Given the description of an element on the screen output the (x, y) to click on. 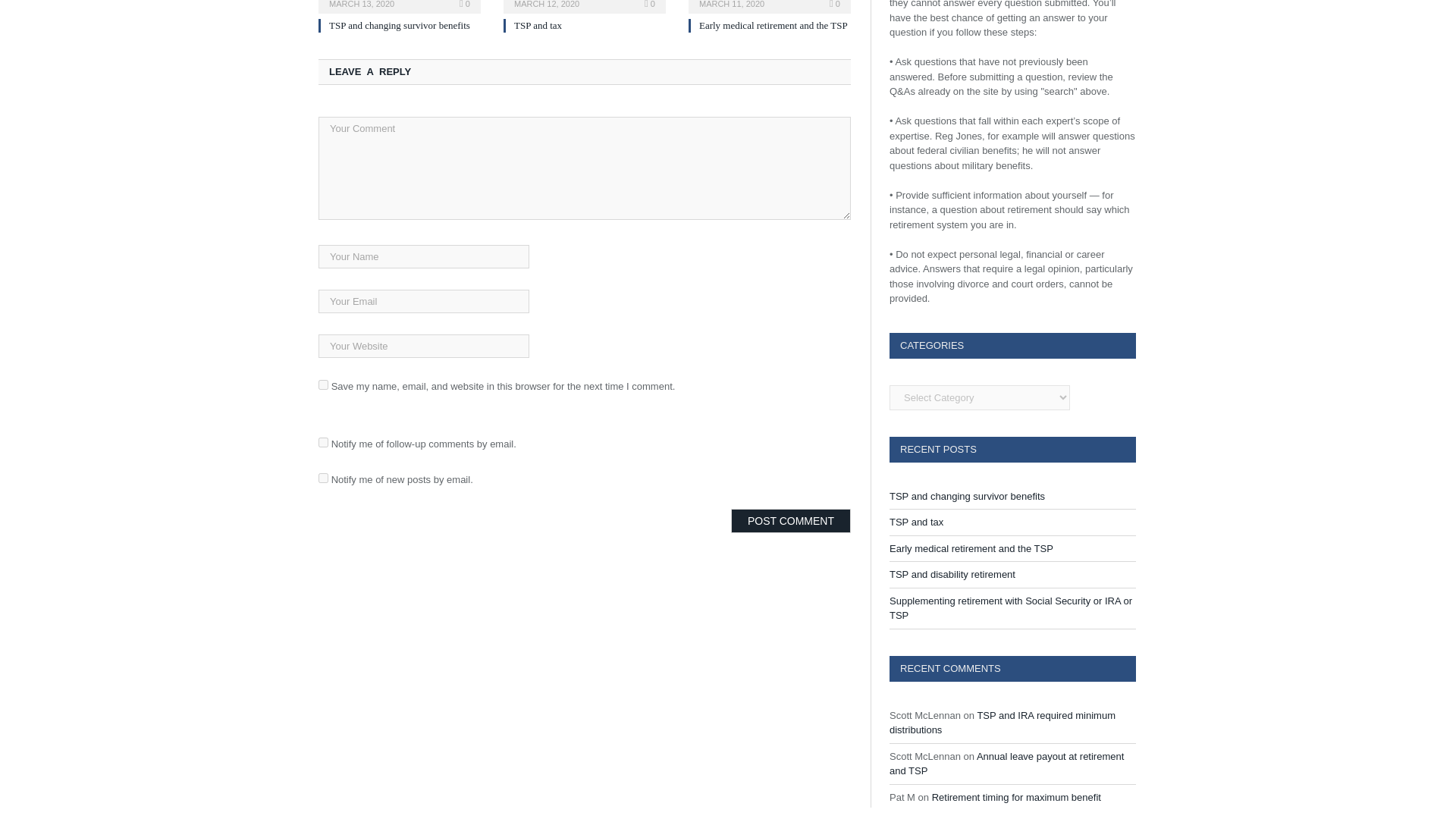
subscribe (323, 442)
subscribe (323, 478)
yes (323, 384)
Post Comment (790, 520)
